Given the description of an element on the screen output the (x, y) to click on. 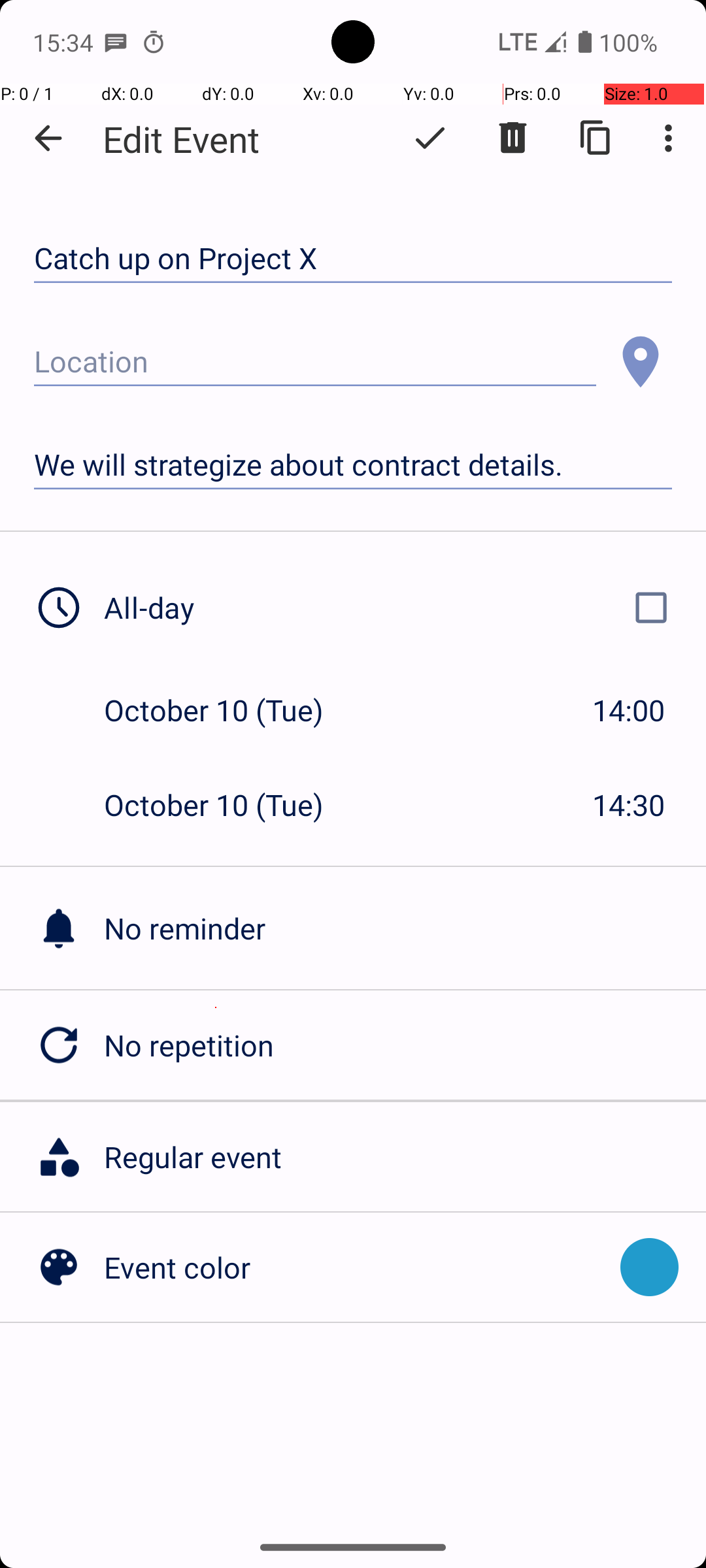
We will strategize about contract details. Element type: android.widget.EditText (352, 465)
October 10 (Tue) Element type: android.widget.TextView (227, 709)
14:30 Element type: android.widget.TextView (628, 804)
